Given the description of an element on the screen output the (x, y) to click on. 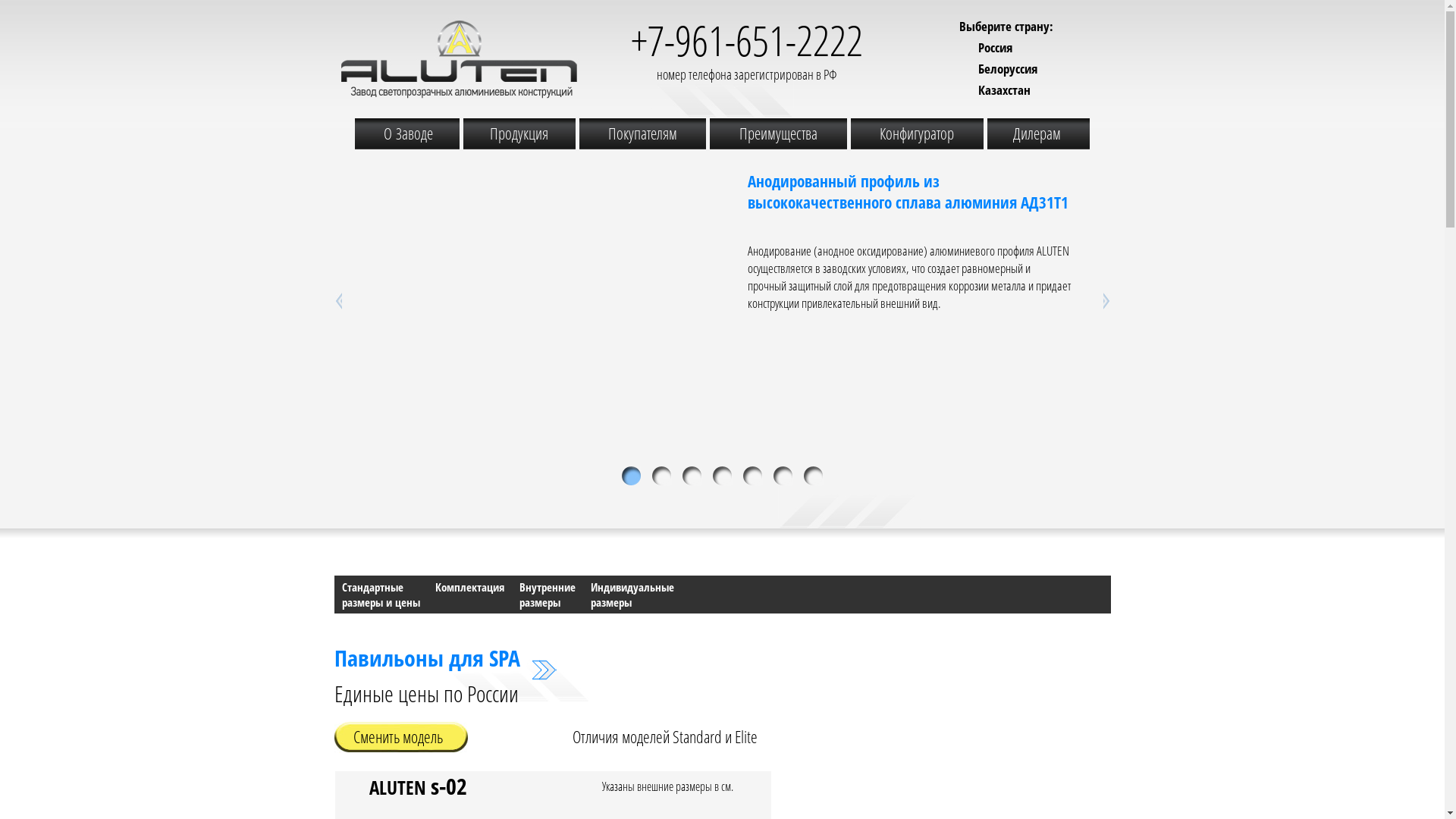
  Element type: text (354, 300)
  Element type: text (1091, 300)
  Element type: text (722, 475)
  Element type: text (631, 475)
  Element type: text (752, 475)
  Element type: text (691, 475)
  Element type: text (782, 475)
  Element type: text (661, 475)
  Element type: text (813, 475)
